Given the description of an element on the screen output the (x, y) to click on. 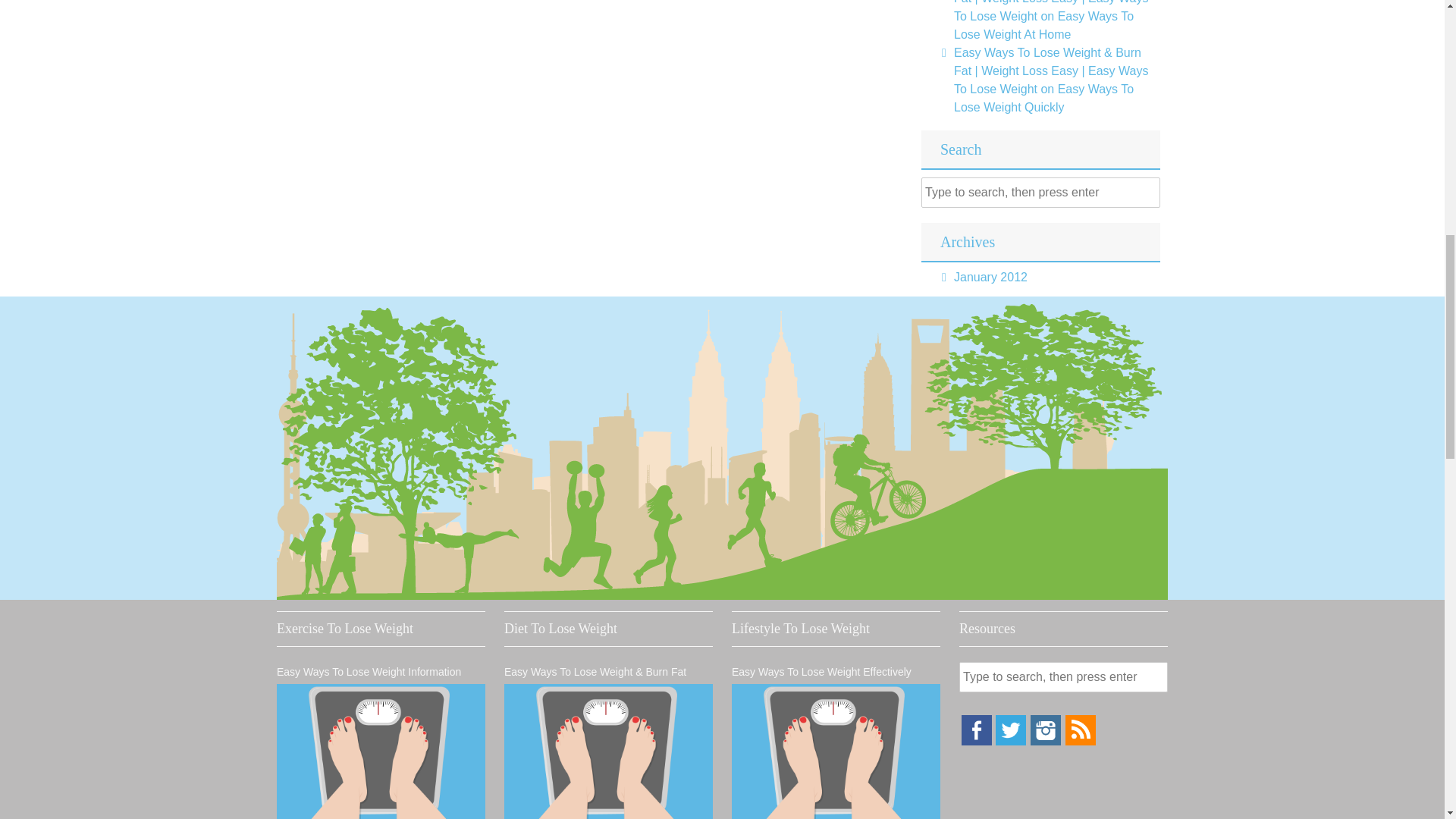
Type to search, then press enter (1063, 676)
Easy Ways To Lose Weight Quickly (1043, 97)
Easy Ways To Lose Weight Information (380, 751)
Type to search, then press enter (1040, 192)
Easy Ways To Lose Weight At Home (1043, 24)
